Given the description of an element on the screen output the (x, y) to click on. 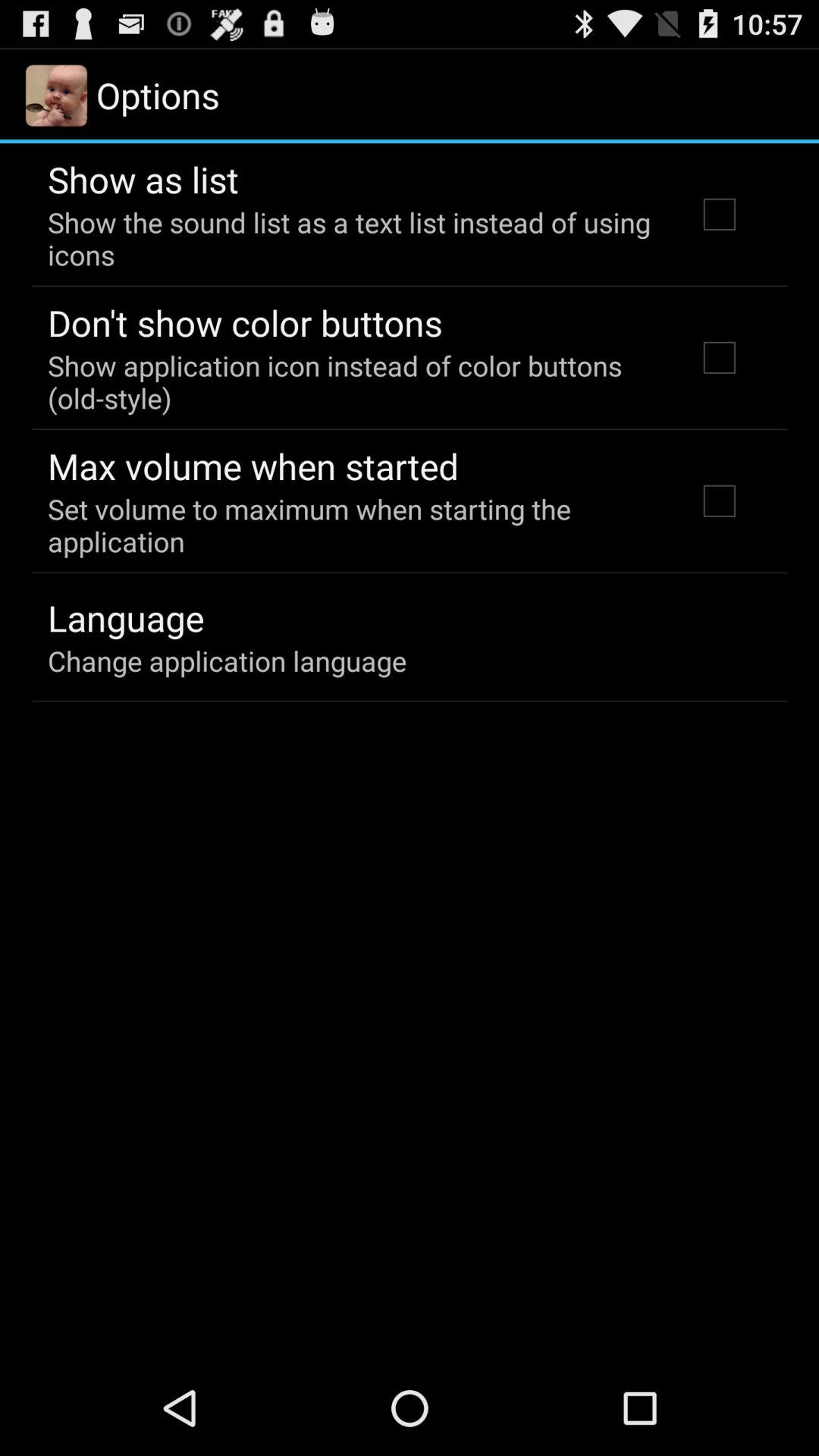
click the show application icon app (351, 381)
